Given the description of an element on the screen output the (x, y) to click on. 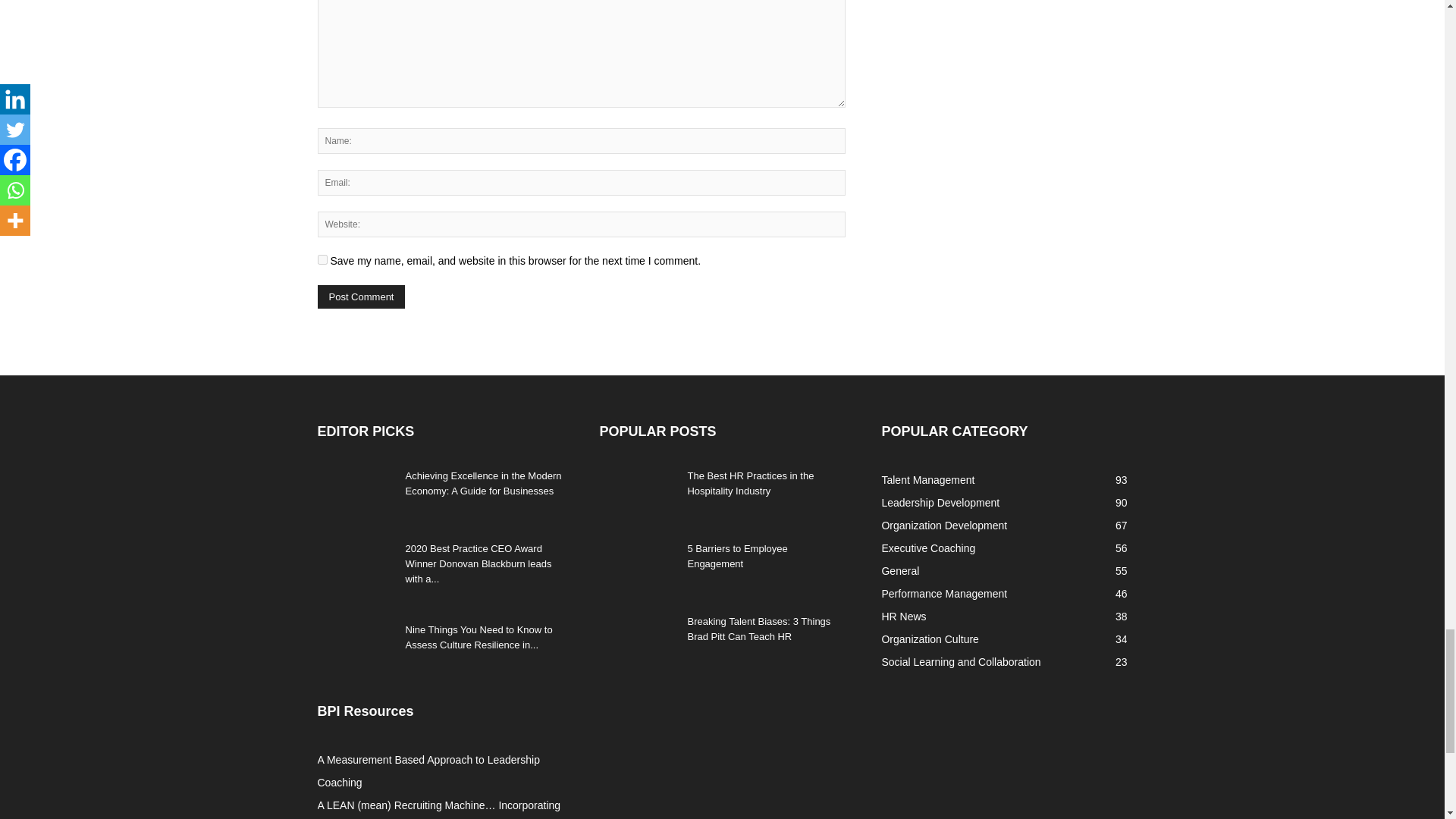
yes (321, 259)
Post Comment (360, 296)
